Given the description of an element on the screen output the (x, y) to click on. 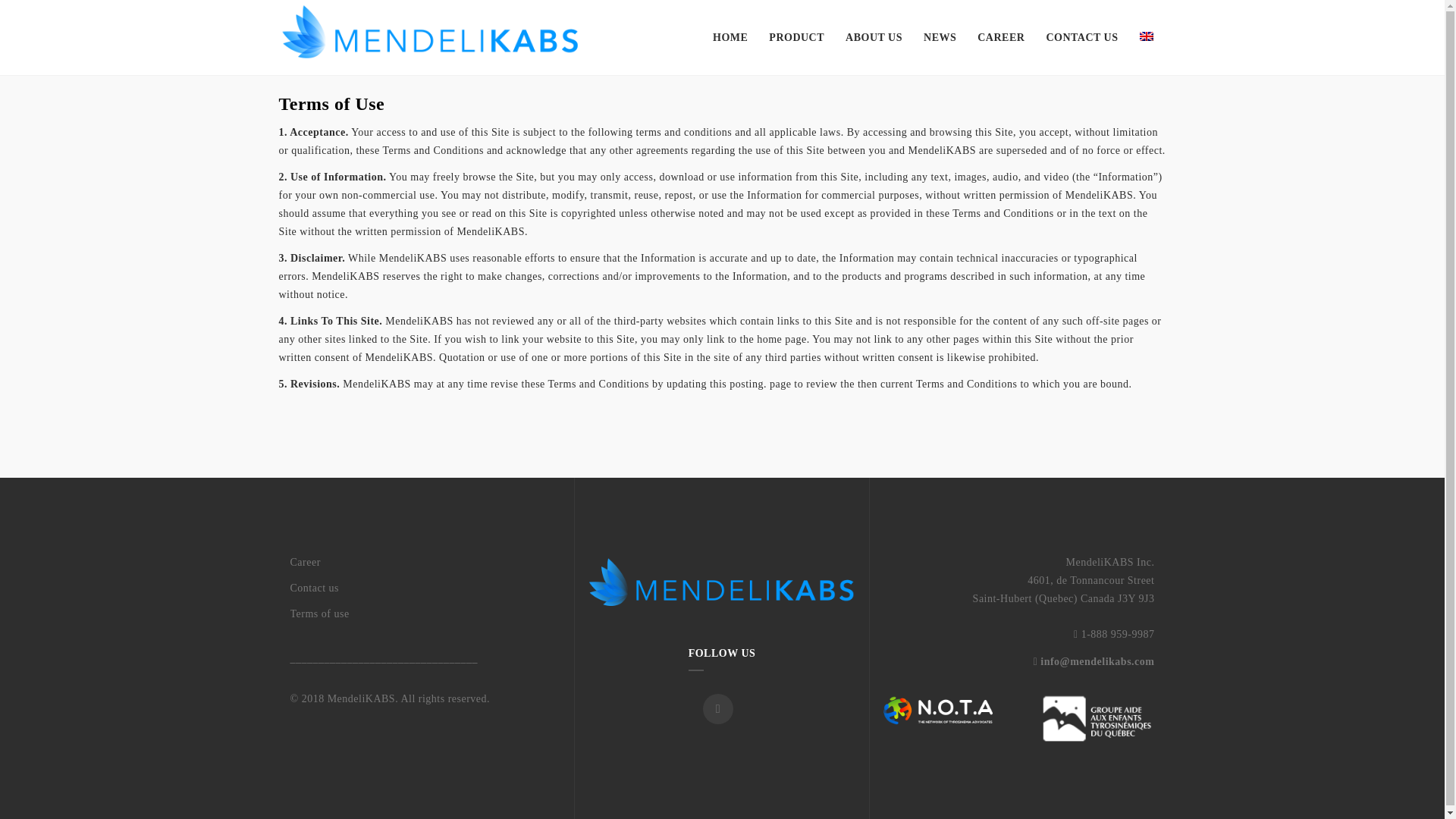
Facebook (718, 708)
English (1145, 35)
Career (425, 562)
ABOUT US (873, 38)
Contact us (425, 588)
PRODUCT (796, 38)
Terms of use (425, 614)
CONTACT US (1081, 38)
